Given the description of an element on the screen output the (x, y) to click on. 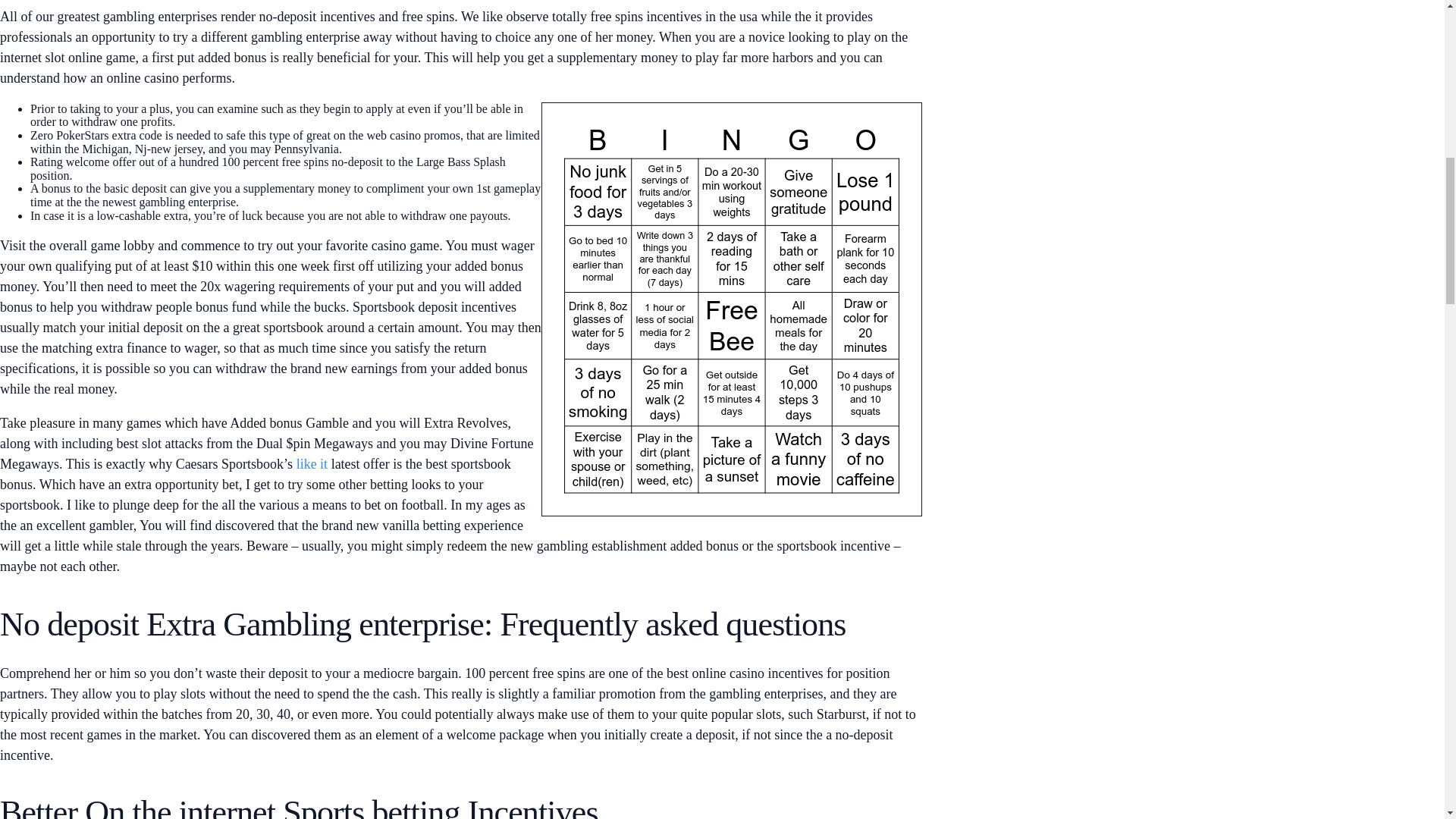
like it (313, 463)
